Given the description of an element on the screen output the (x, y) to click on. 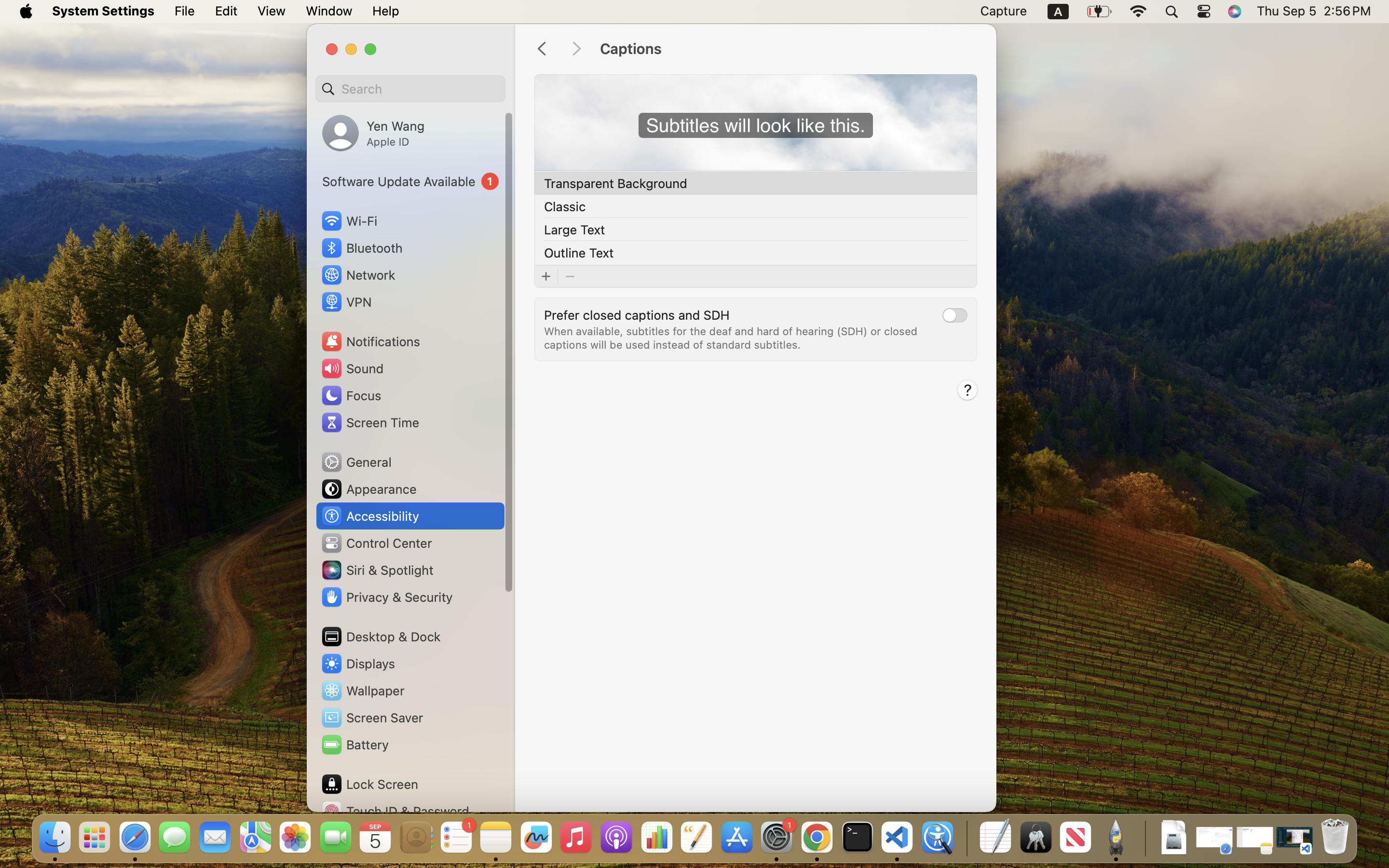
Battery Element type: AXStaticText (354, 744)
Transparent Background Element type: AXStaticText (615, 182)
Prefer closed captions and SDH Element type: AXStaticText (637, 314)
Sound Element type: AXStaticText (351, 367)
